Given the description of an element on the screen output the (x, y) to click on. 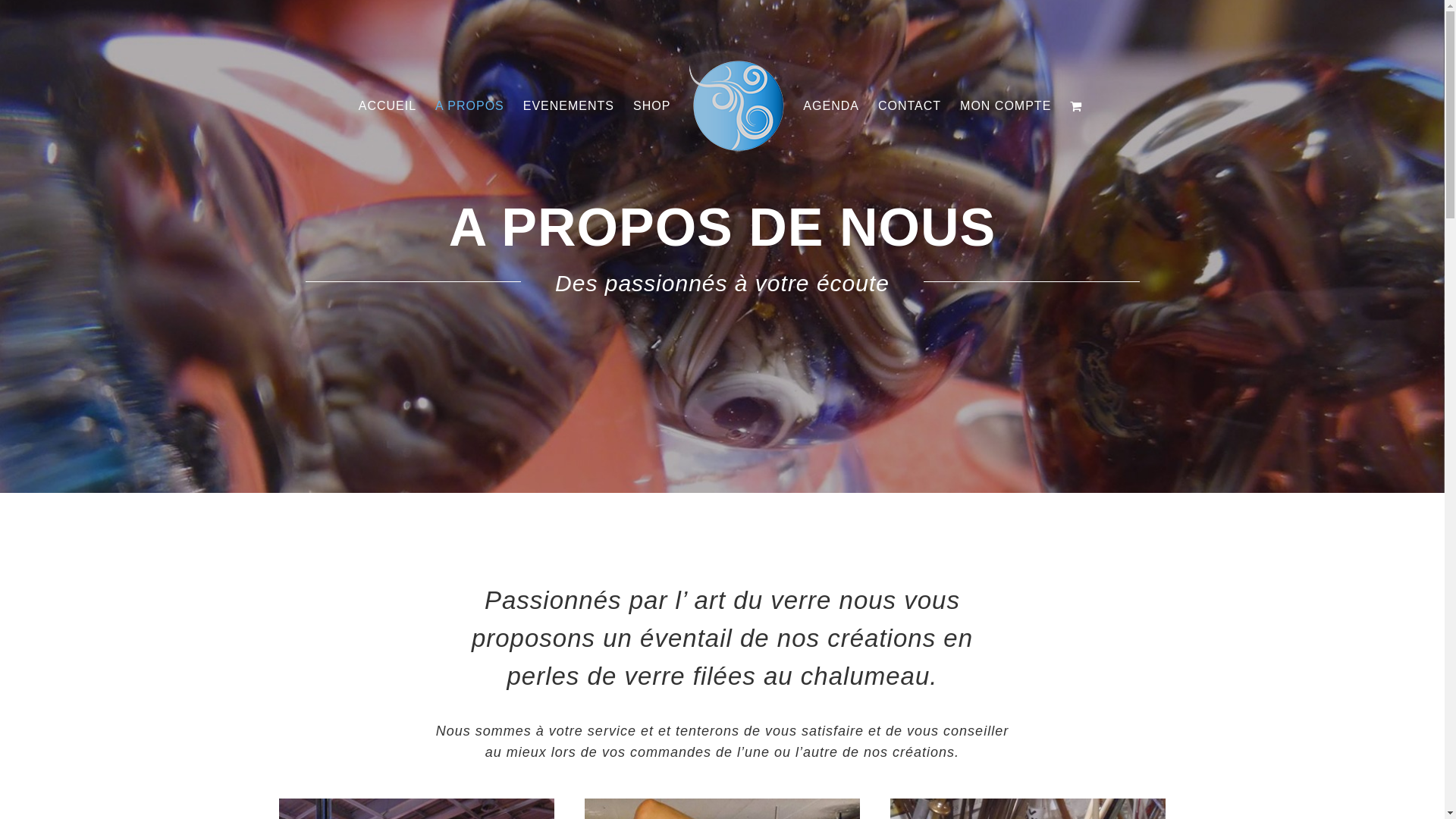
MON COMPTE Element type: text (1005, 106)
AGENDA Element type: text (831, 106)
SHOP Element type: text (651, 106)
A PROPOS Element type: text (469, 106)
CONTACT Element type: text (909, 106)
ACCUEIL Element type: text (387, 106)
EVENEMENTS Element type: text (568, 106)
